Given the description of an element on the screen output the (x, y) to click on. 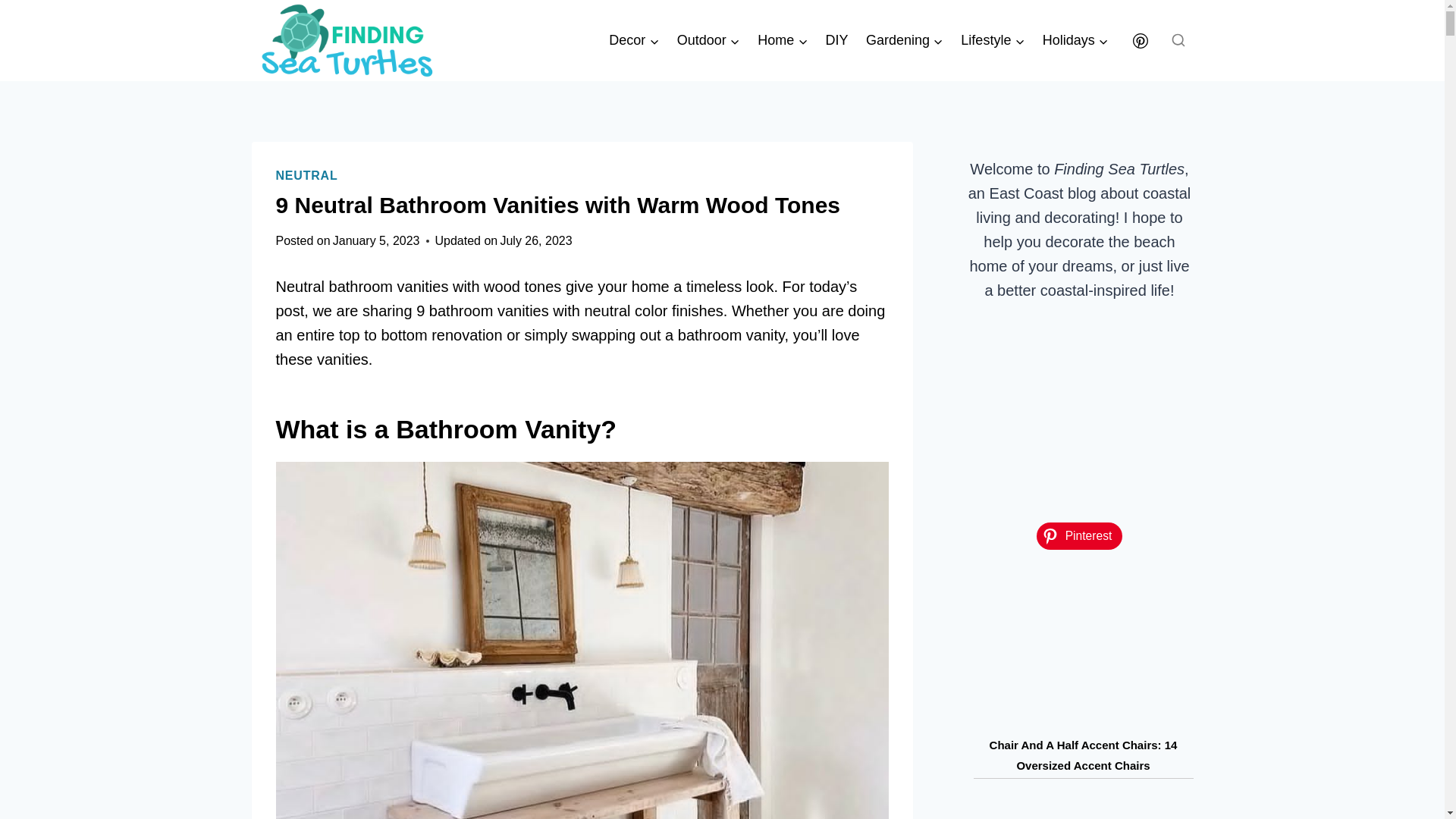
DIY (836, 40)
Home (781, 40)
Gardening (904, 40)
Outdoor (708, 40)
Lifestyle (992, 40)
Holidays (1074, 40)
Chair And A Half Accent Chairs: 14 Oversized Accent Chairs (1083, 755)
Decor (633, 40)
